Given the description of an element on the screen output the (x, y) to click on. 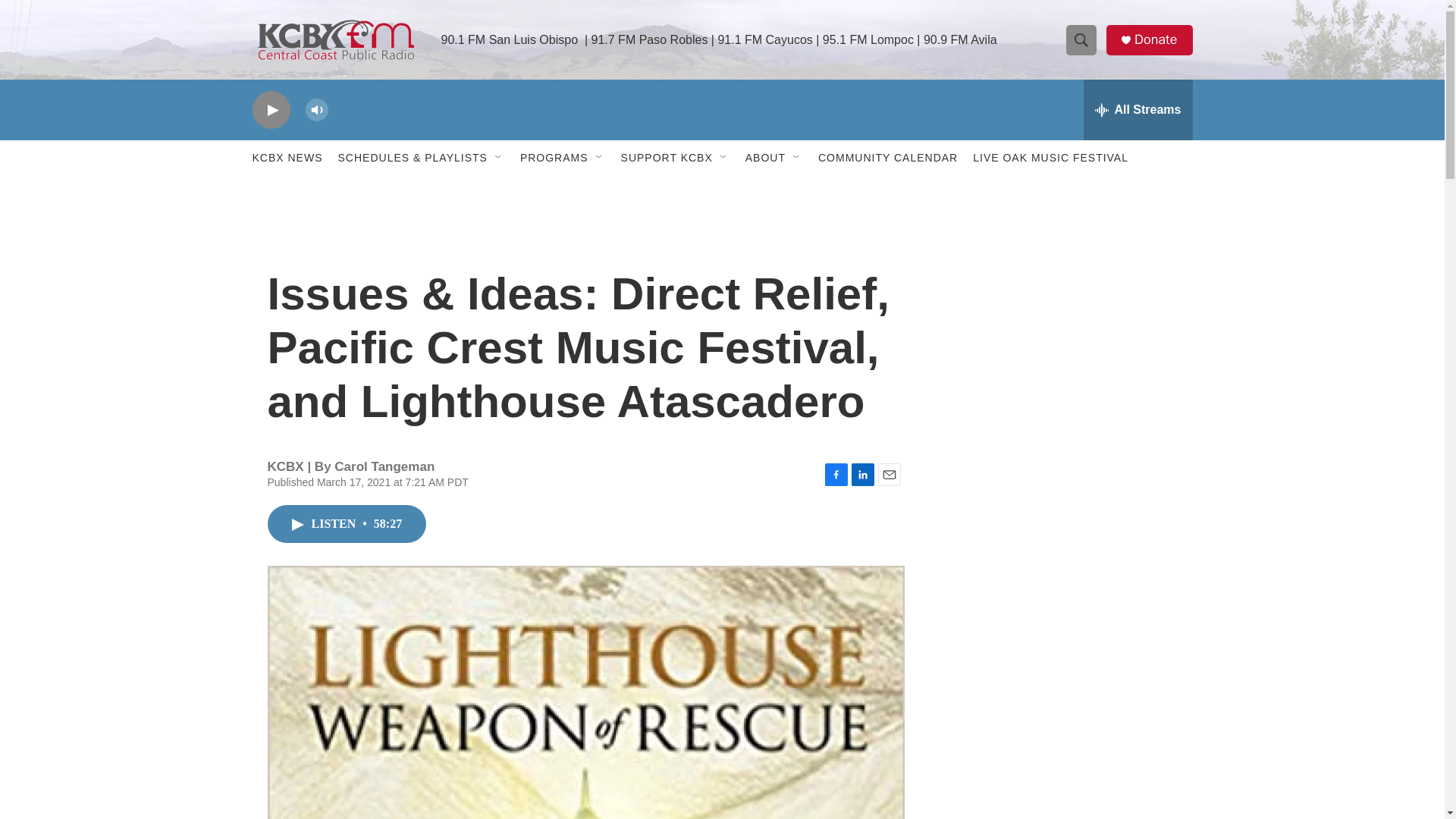
3rd party ad content (1062, 316)
